Given the description of an element on the screen output the (x, y) to click on. 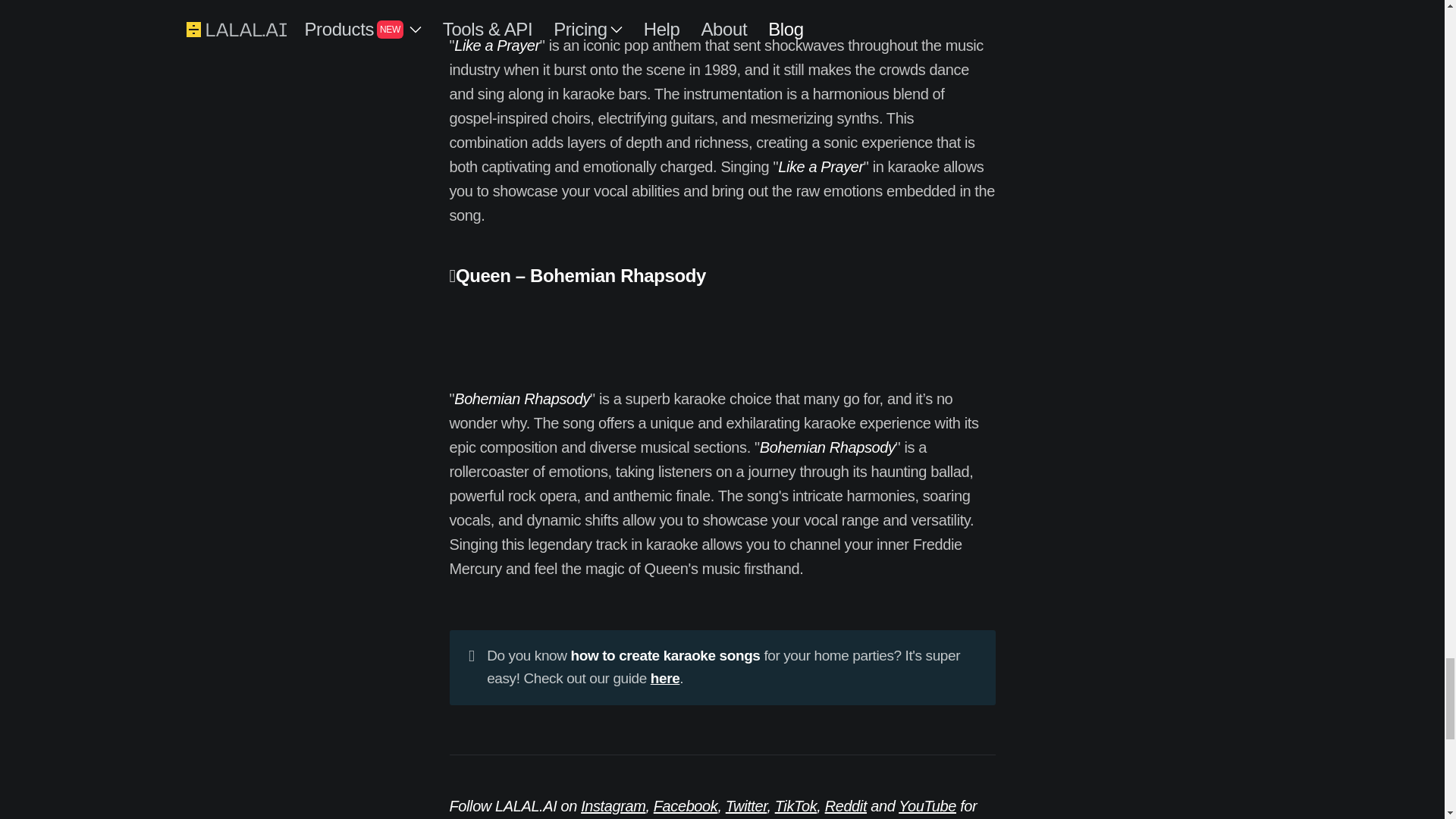
here (664, 678)
TikTok (795, 805)
YouTube (927, 805)
Twitter (746, 805)
Instagram (612, 805)
Reddit (845, 805)
Facebook (685, 805)
